Given the description of an element on the screen output the (x, y) to click on. 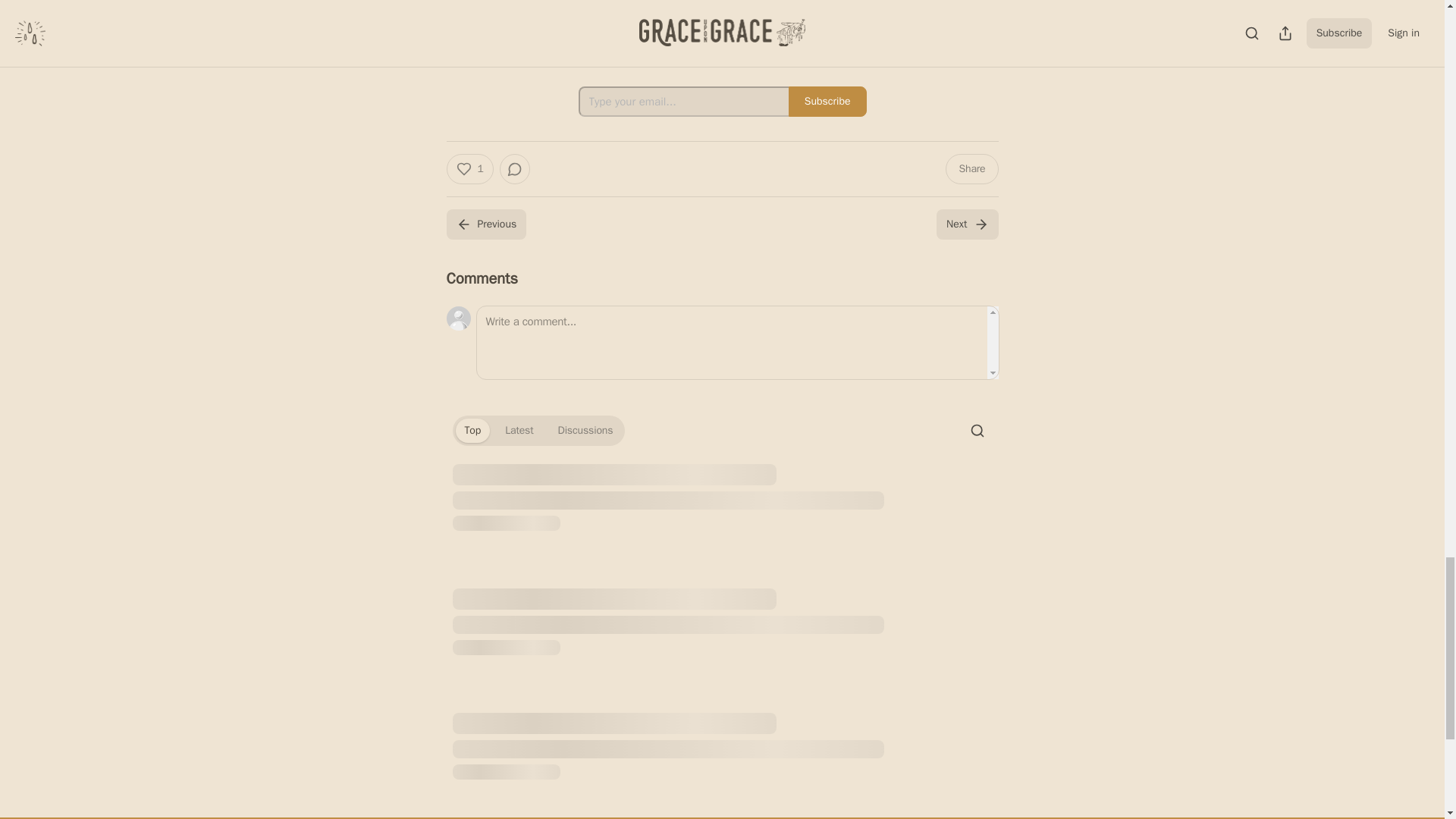
1 (469, 168)
Subscribe (827, 101)
Share (970, 168)
Previous (485, 224)
